Given the description of an element on the screen output the (x, y) to click on. 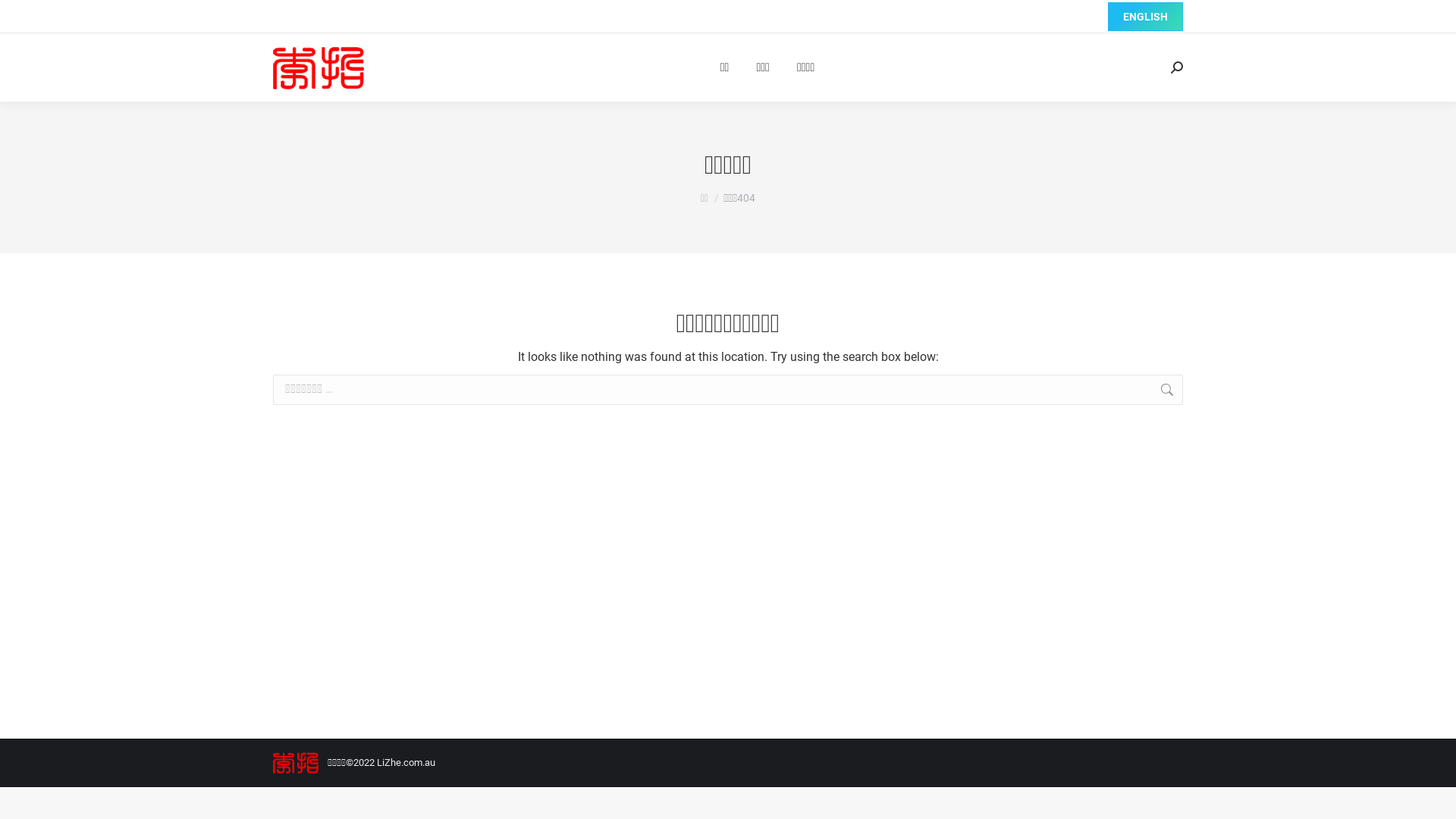
ENGLISH Element type: text (1145, 16)
Go! Element type: text (1206, 390)
Go! Element type: text (23, 16)
